Given the description of an element on the screen output the (x, y) to click on. 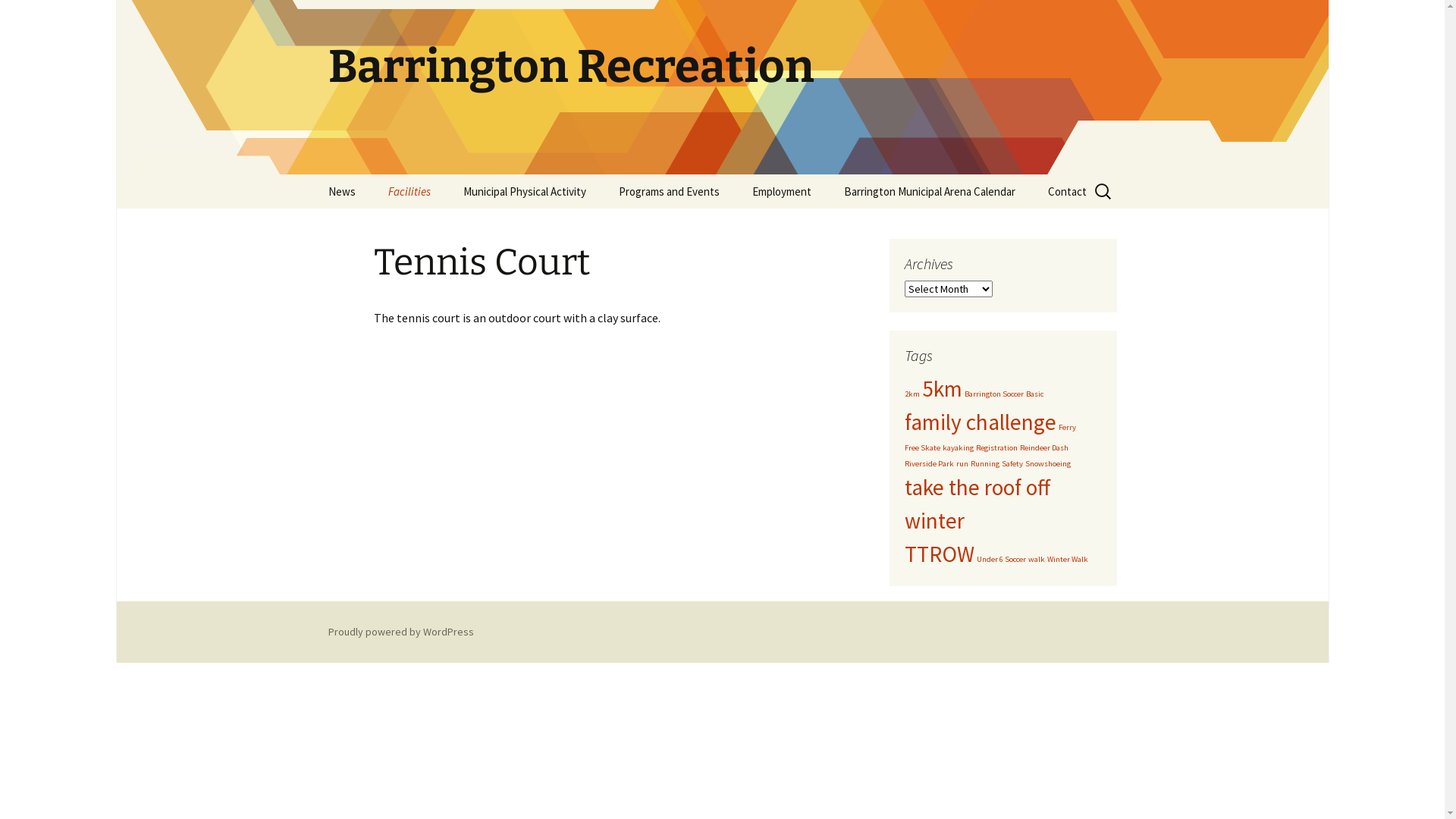
Safety Element type: text (1011, 463)
Snowshoeing Element type: text (1047, 463)
2014 Volunteer Week Element type: text (679, 225)
2km Element type: text (911, 393)
run Element type: text (961, 463)
Free Skate Element type: text (921, 447)
Barrington Recreation Element type: text (721, 87)
Barrington Municipal Arena Calendar Element type: text (928, 191)
Employment Element type: text (781, 191)
Recreation Centre Element type: text (448, 225)
kayaking Element type: text (956, 447)
5km Element type: text (942, 388)
Riverside Park Element type: text (928, 463)
News Element type: text (341, 191)
take the roof off winter Element type: text (976, 503)
family challenge Element type: text (979, 421)
Reindeer Dash Element type: text (1043, 447)
Registration Element type: text (995, 447)
walk Element type: text (1036, 559)
TTROW Element type: text (938, 553)
Facilities Element type: text (409, 191)
Winter Walk Element type: text (1066, 559)
Basic Element type: text (1033, 393)
Programs and Events Element type: text (668, 191)
Running Element type: text (984, 463)
Barrington Soccer Element type: text (993, 393)
Proudly powered by WordPress Element type: text (400, 631)
Search Element type: text (18, 16)
Under 6 Soccer Element type: text (1001, 559)
Contact Element type: text (1066, 191)
Municipal Physical Activity Element type: text (523, 191)
Skip to content Element type: text (312, 173)
Ferry Element type: text (1067, 427)
